Given the description of an element on the screen output the (x, y) to click on. 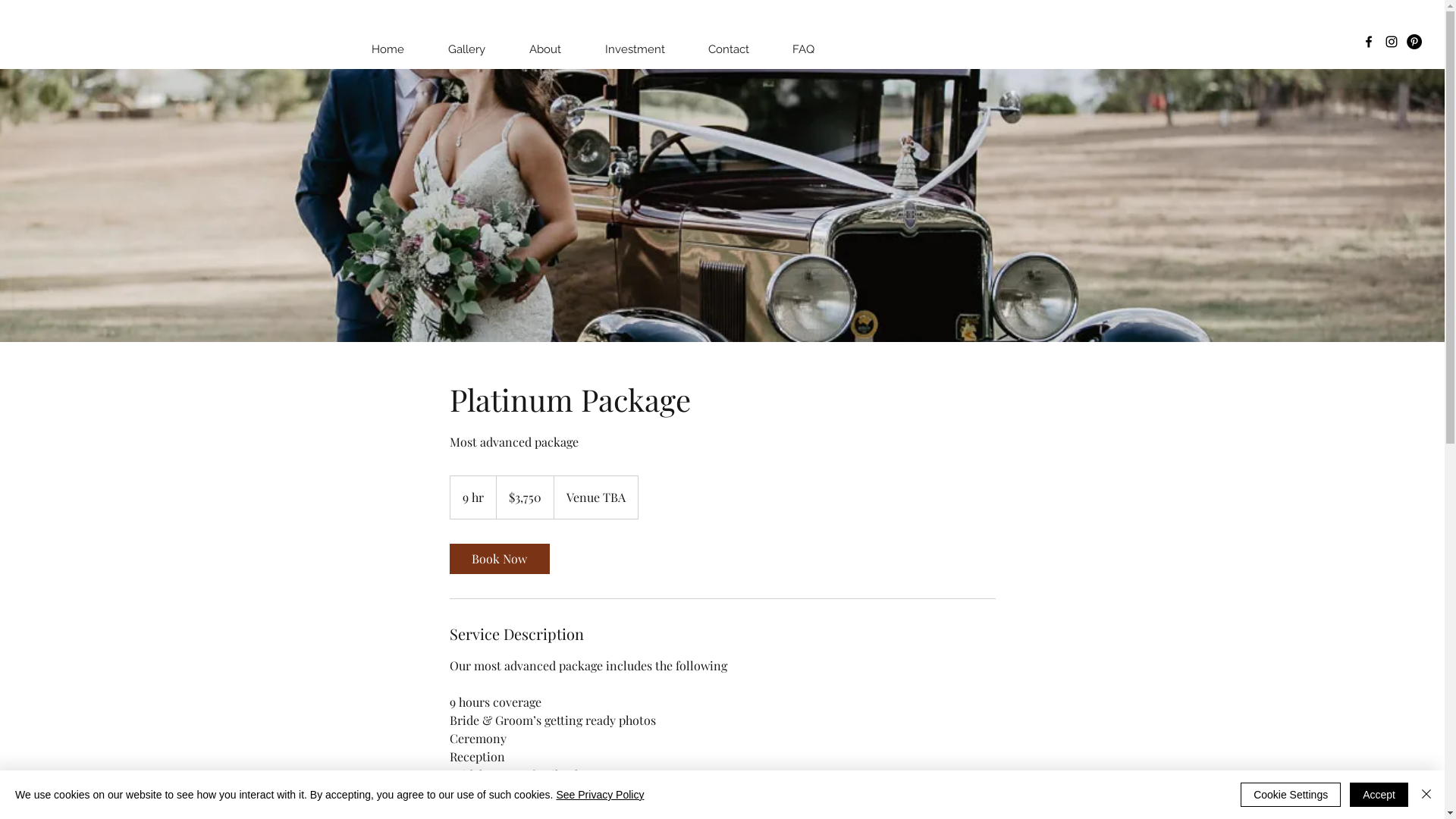
See Privacy Policy Element type: text (599, 794)
Contact Element type: text (728, 49)
About Element type: text (545, 49)
Book Now Element type: text (498, 558)
Home Element type: text (387, 49)
FAQ Element type: text (802, 49)
Gallery Element type: text (466, 49)
Accept Element type: text (1378, 794)
Cookie Settings Element type: text (1290, 794)
Investment Element type: text (634, 49)
